Given the description of an element on the screen output the (x, y) to click on. 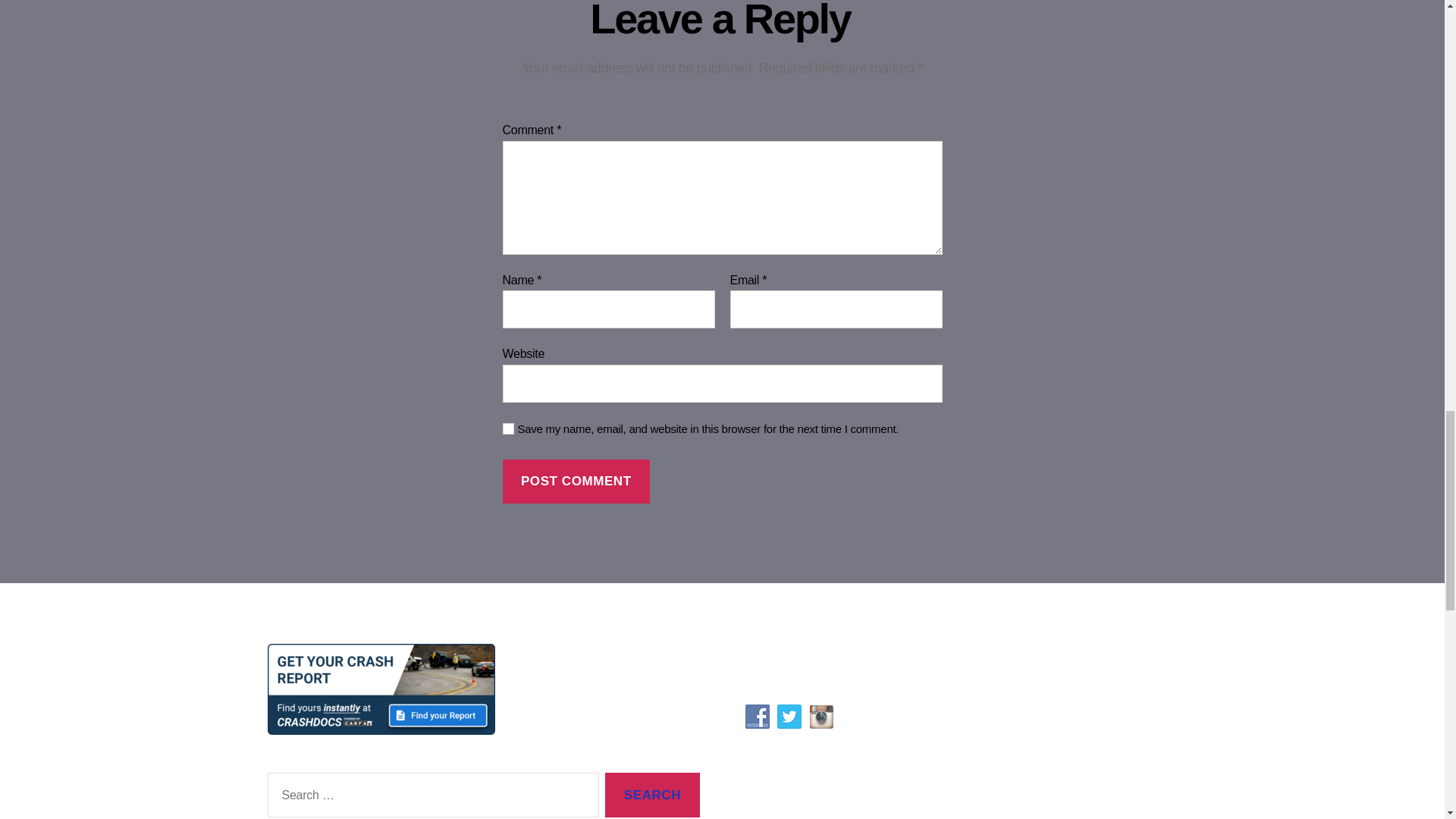
Follow Us on Instagram (820, 716)
Search (651, 795)
Follow Us on Facebook (756, 716)
Follow Us on Twitter (788, 716)
Search (651, 795)
yes (507, 428)
Post Comment (575, 481)
